Given the description of an element on the screen output the (x, y) to click on. 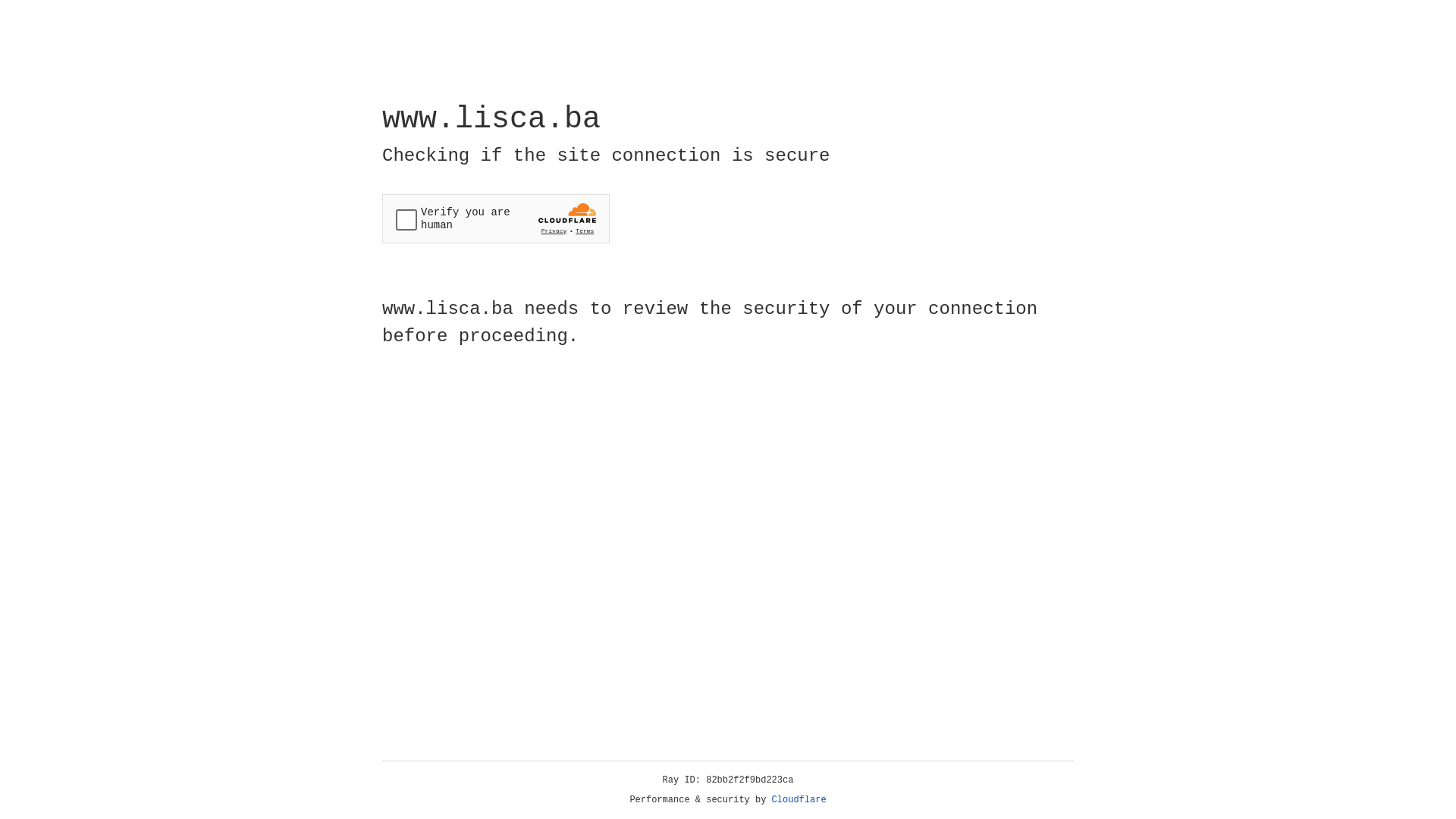
Cloudflare Element type: text (798, 799)
Widget containing a Cloudflare security challenge Element type: hover (495, 218)
